Given the description of an element on the screen output the (x, y) to click on. 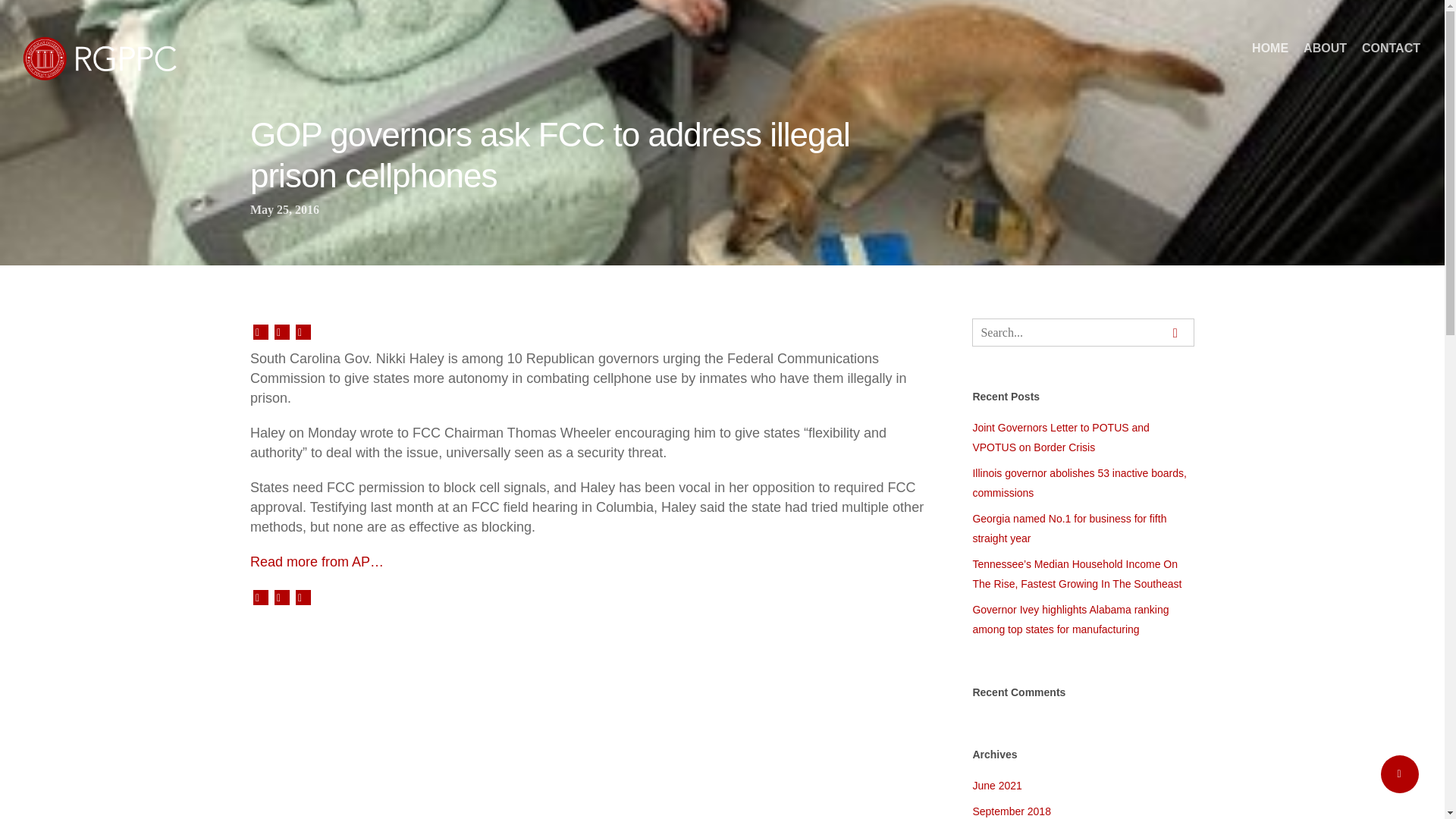
Facebook (281, 597)
Facebook (281, 332)
Illinois governor abolishes 53 inactive boards, commissions (1082, 482)
ABOUT (1324, 59)
HOME (1269, 59)
Search for: (1082, 332)
CONTACT (1391, 59)
June 2021 (1082, 785)
Email This (303, 597)
Joint Governors Letter to POTUS and VPOTUS on Border Crisis (1082, 437)
September 2018 (1082, 810)
Georgia named No.1 for business for fifth straight year (1082, 527)
Email This (303, 332)
